Given the description of an element on the screen output the (x, y) to click on. 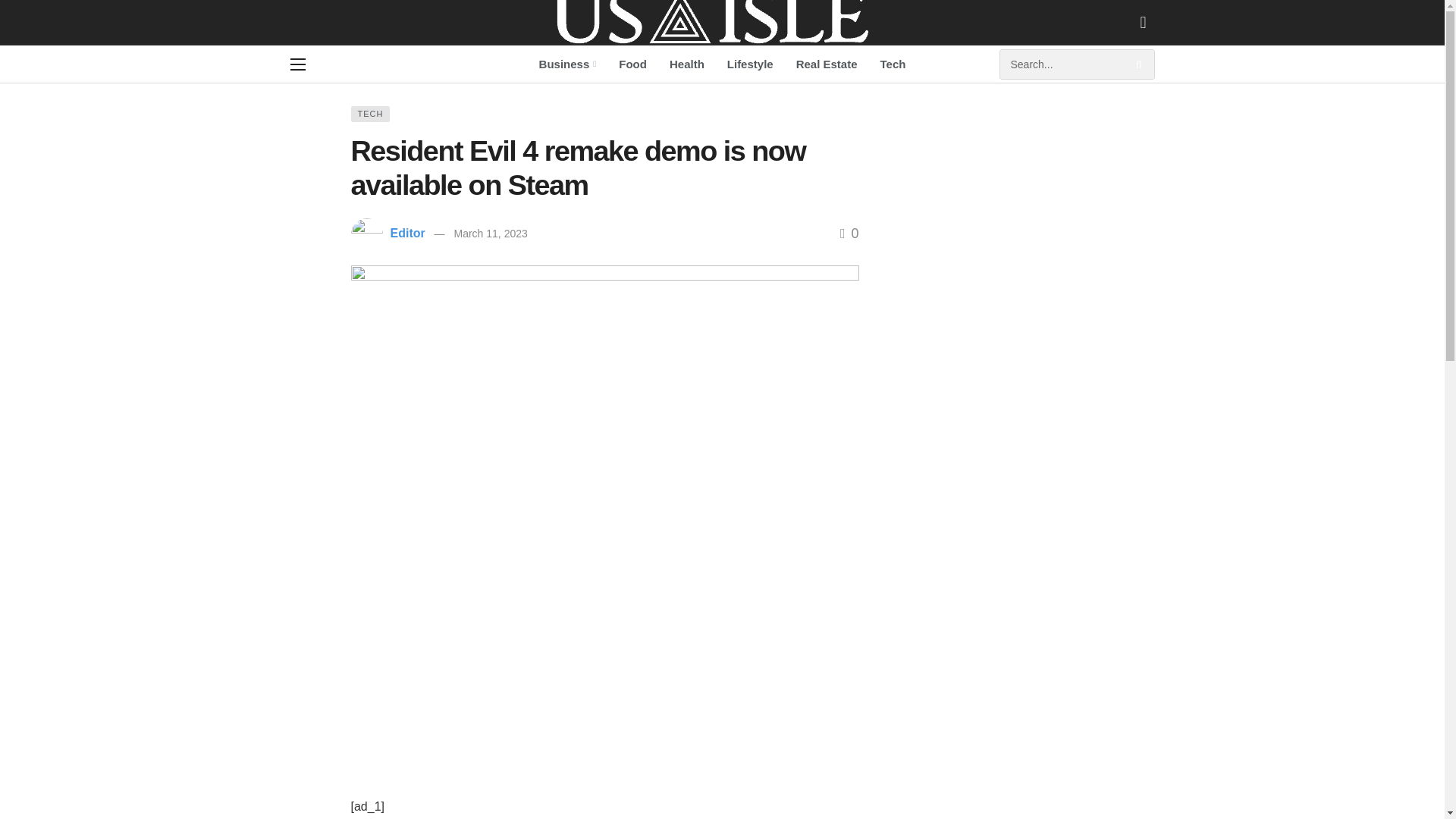
TECH (370, 114)
Editor (407, 232)
Health (687, 63)
Business (567, 63)
Lifestyle (750, 63)
Food (632, 63)
Tech (893, 63)
0 (849, 233)
Real Estate (826, 63)
March 11, 2023 (489, 233)
